Given the description of an element on the screen output the (x, y) to click on. 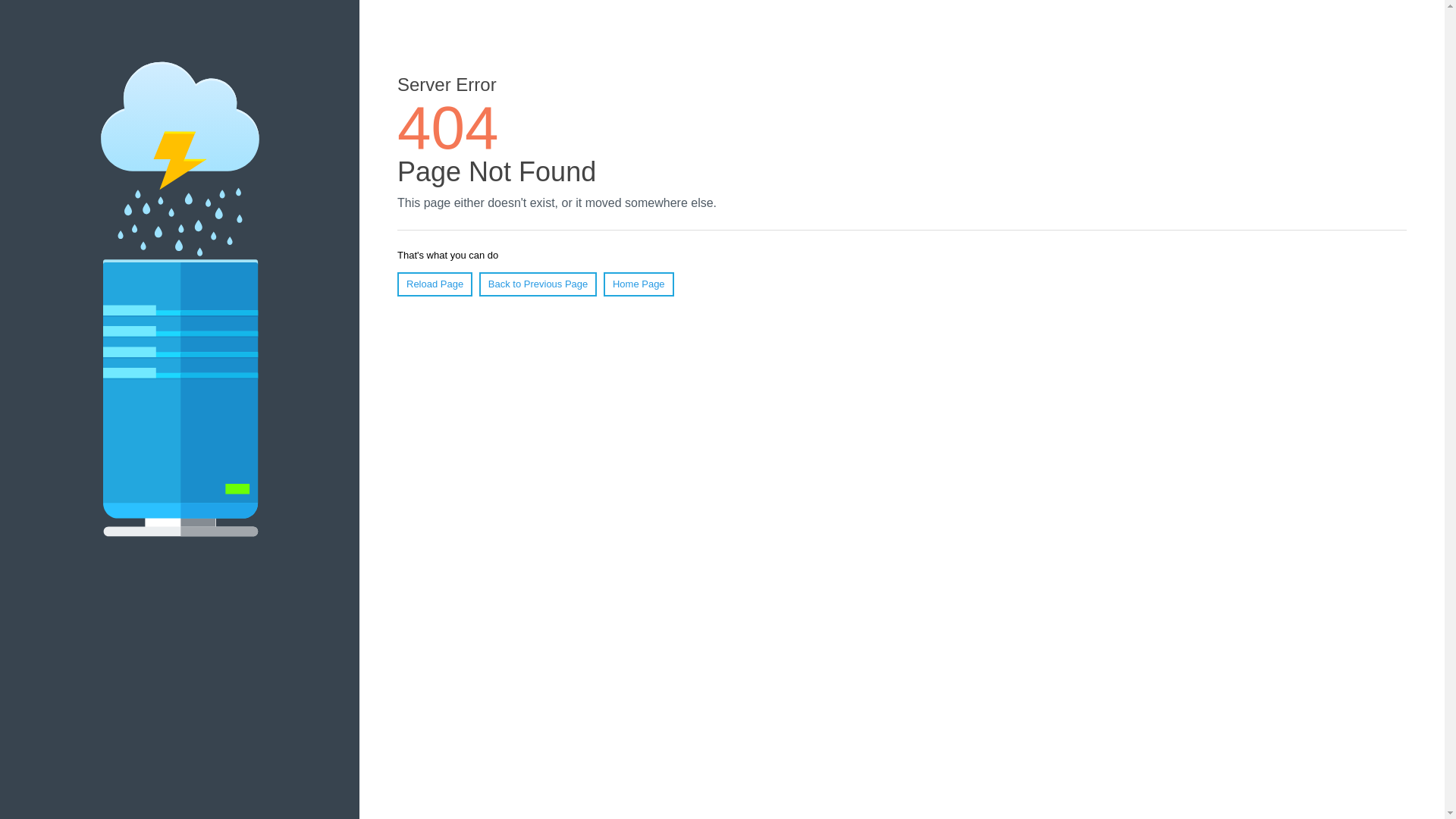
Reload Page Element type: text (434, 284)
Back to Previous Page Element type: text (538, 284)
Home Page Element type: text (638, 284)
